Given the description of an element on the screen output the (x, y) to click on. 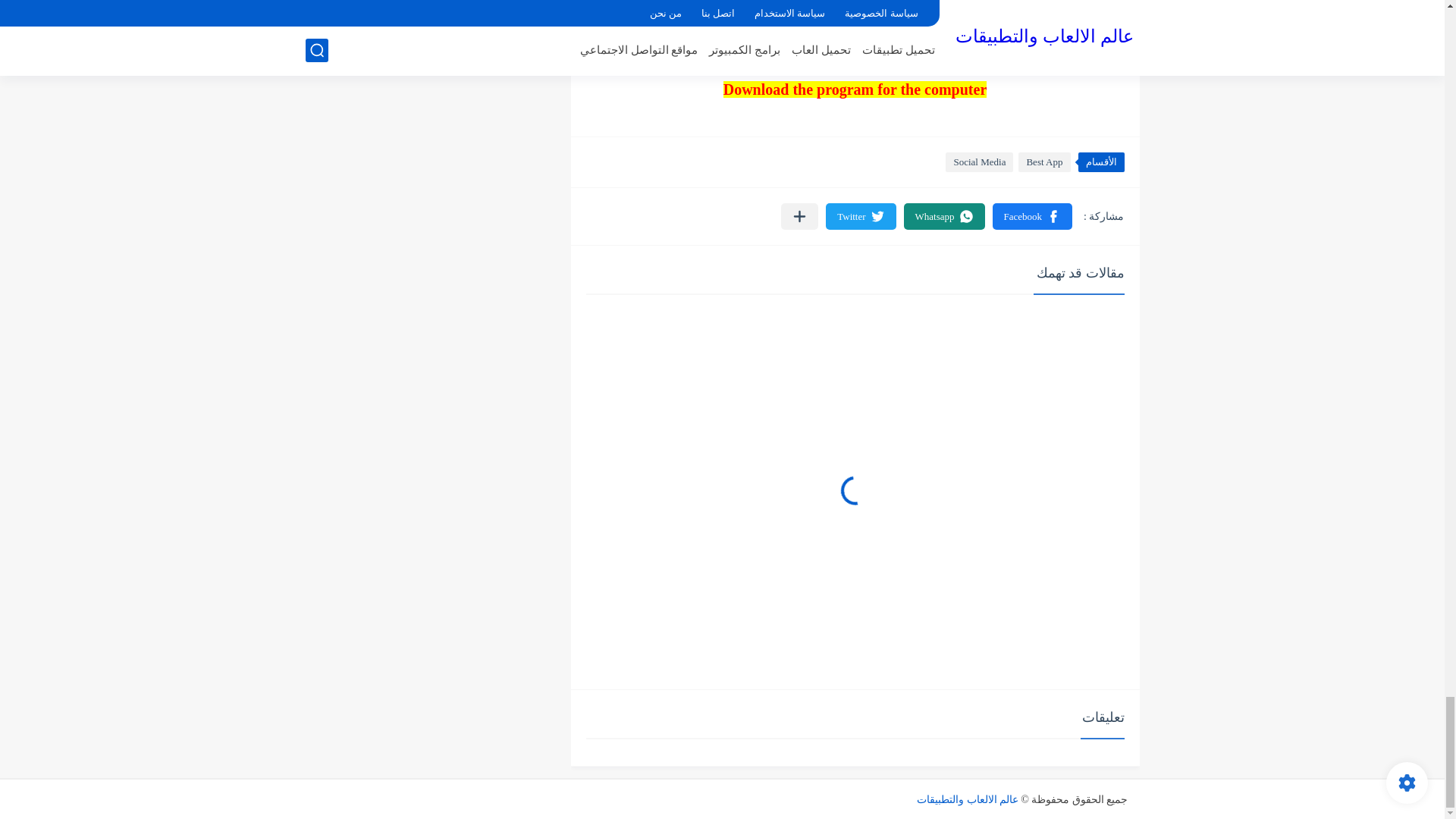
Social Media (978, 161)
Best App (1043, 161)
Download the program for the computer (855, 89)
Social Media (978, 161)
Best App (1043, 161)
Download the program for iPhone (855, 6)
